Given the description of an element on the screen output the (x, y) to click on. 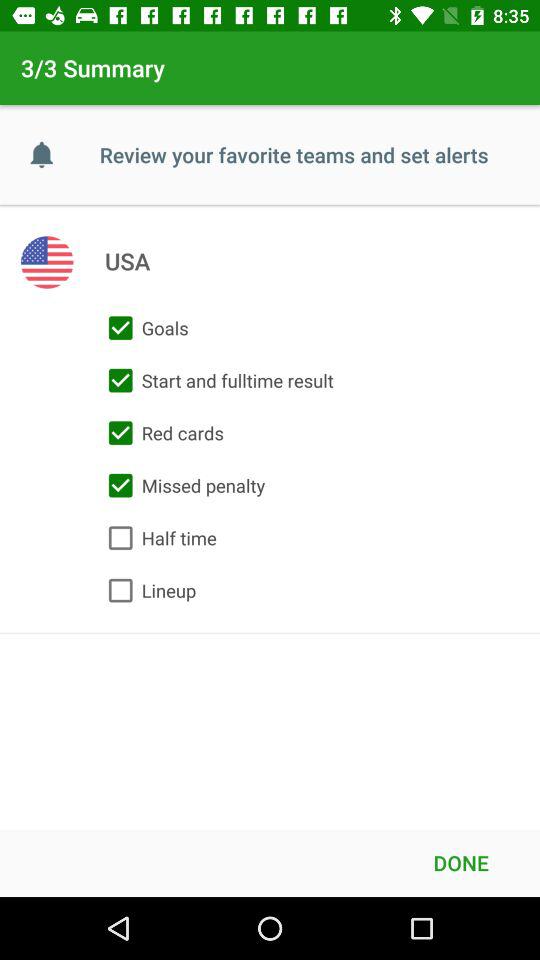
turn on goals (143, 328)
